Given the description of an element on the screen output the (x, y) to click on. 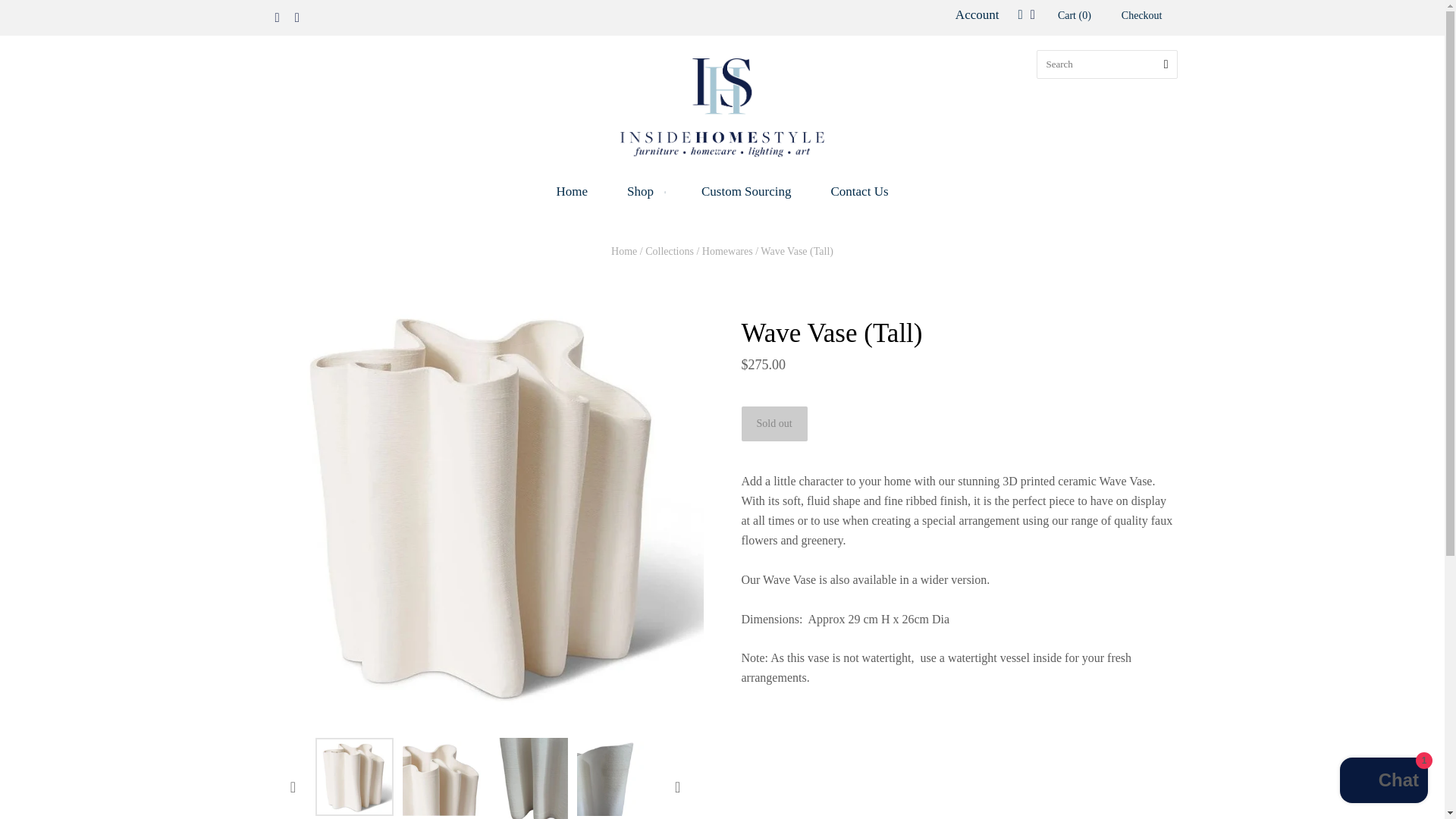
Sold out (774, 423)
Checkout (1141, 16)
Account (976, 14)
Shop (644, 190)
Home (571, 190)
Shopify online store chat (1383, 781)
